Given the description of an element on the screen output the (x, y) to click on. 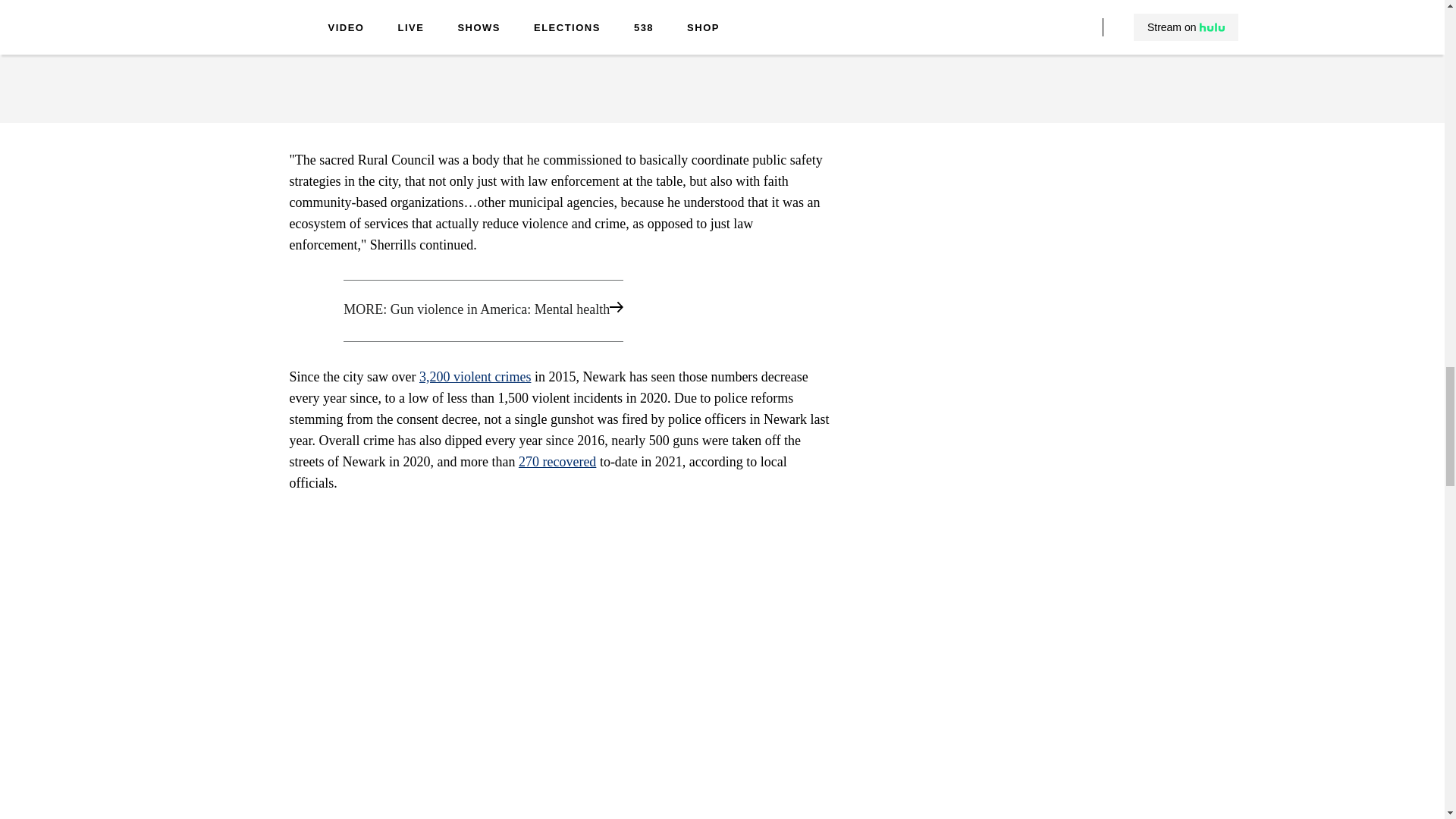
MORE: Gun violence in America: Mental health (560, 311)
3,200 violent crimes (475, 376)
270 recovered (556, 461)
